Given the description of an element on the screen output the (x, y) to click on. 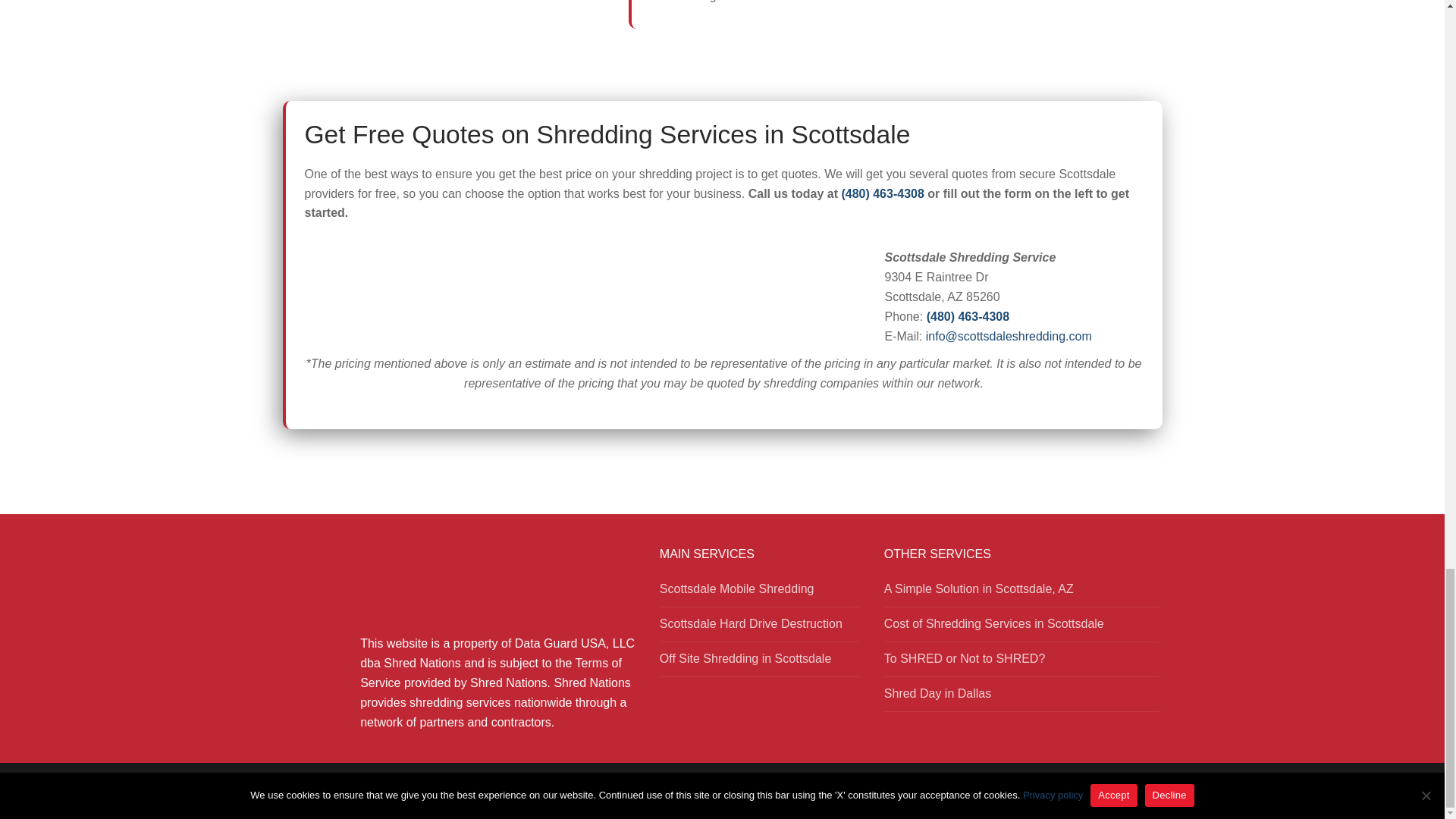
Scottsdale Mobile Shredding (759, 592)
Shred Day in Dallas (1020, 697)
Cost of Shredding Services in Scottsdale (1020, 627)
Scottsdale Hard Drive Destruction (759, 627)
A Simple Solution in Scottsdale, AZ (1020, 592)
To SHRED or Not to SHRED? (1020, 662)
Off Site Shredding in Scottsdale (759, 662)
